Given the description of an element on the screen output the (x, y) to click on. 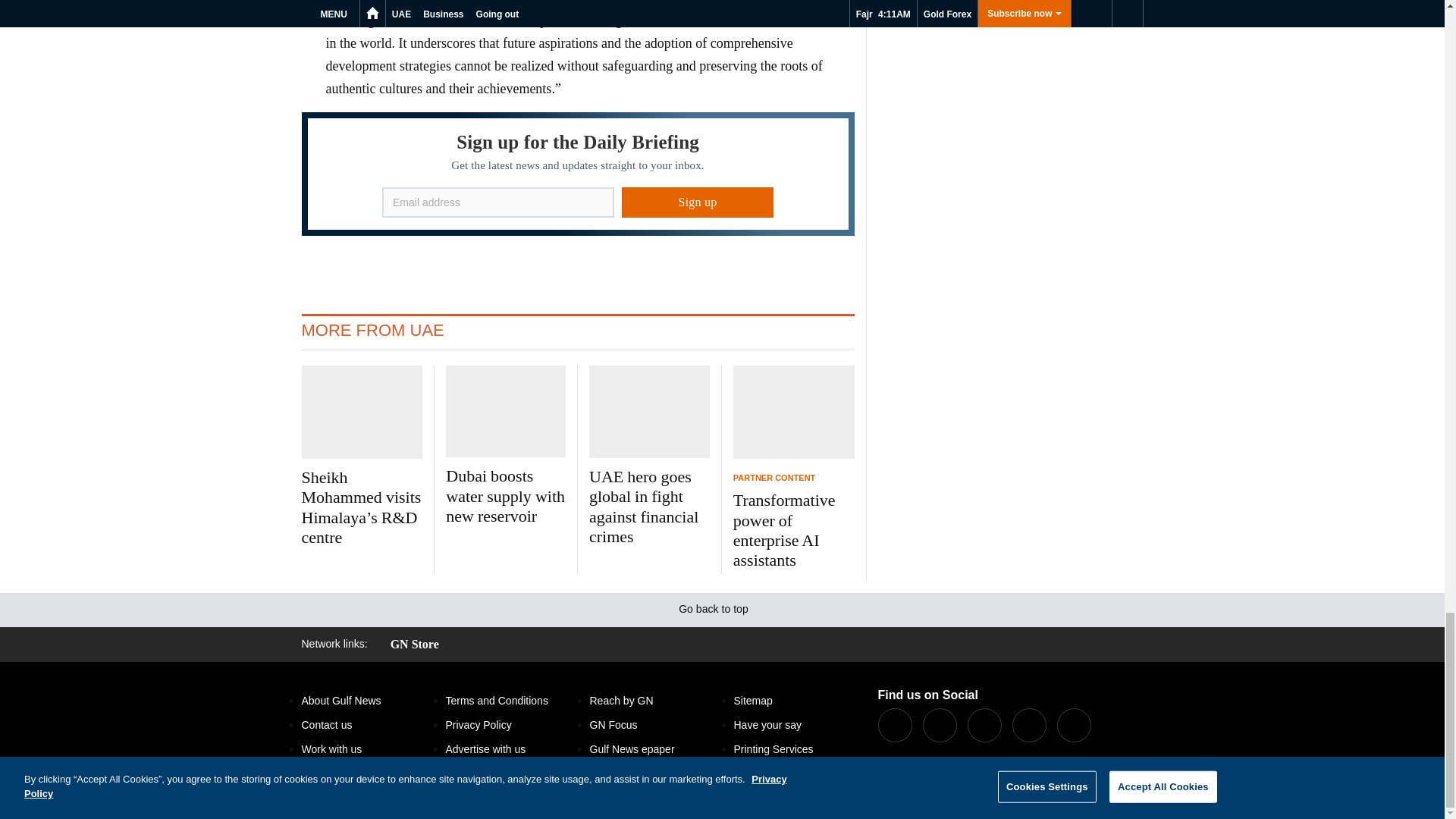
Sign up for the Daily Briefing (577, 173)
